Given the description of an element on the screen output the (x, y) to click on. 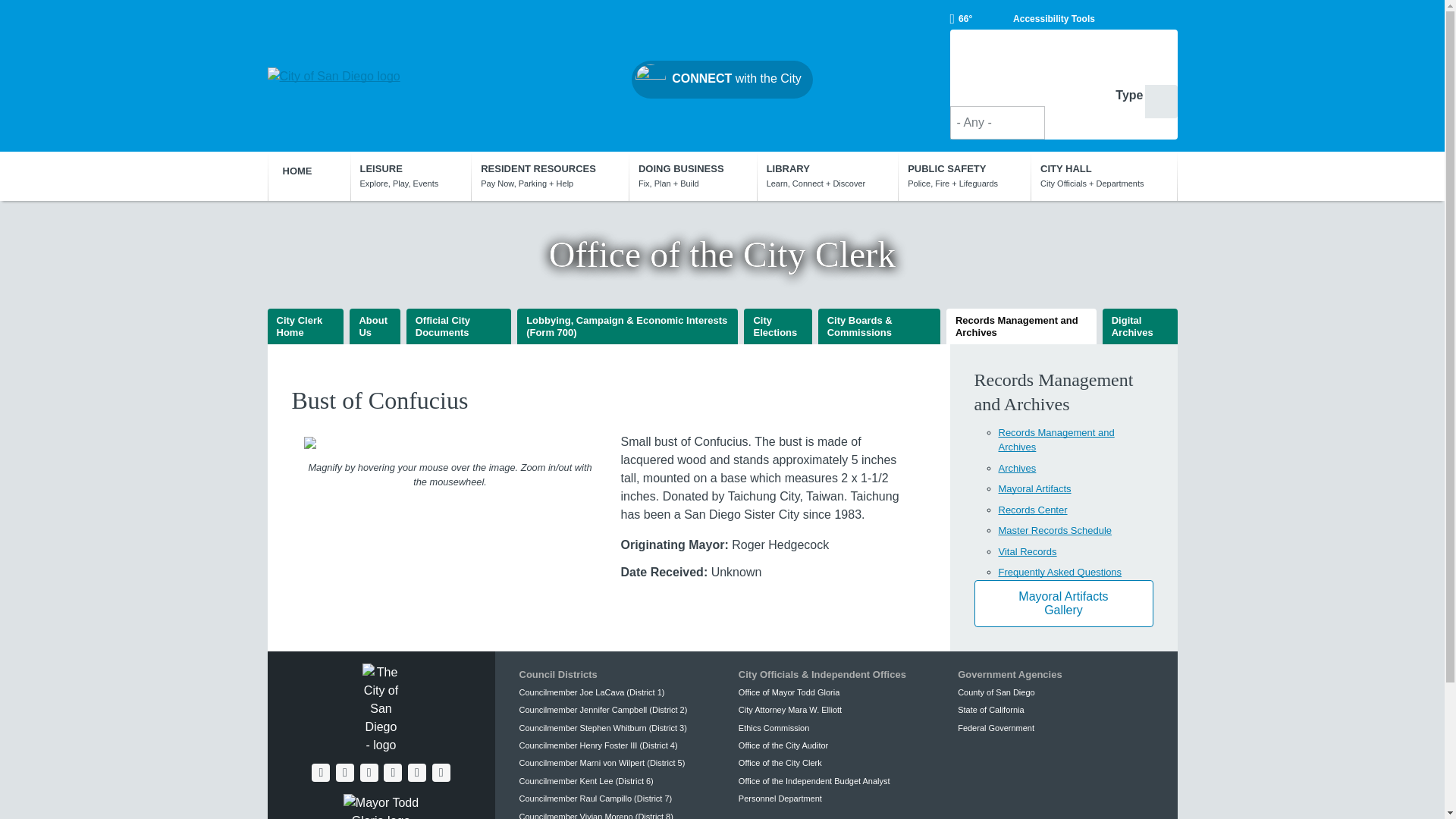
RESIDENT RESOURCES (549, 175)
overcast clouds (960, 18)
HOME (307, 171)
Search (1160, 101)
Twitter (344, 772)
CONNECT with the City (721, 79)
LEISURE (410, 175)
Search (1160, 101)
YouTube (368, 772)
Explore, Play, Events (410, 175)
